Given the description of an element on the screen output the (x, y) to click on. 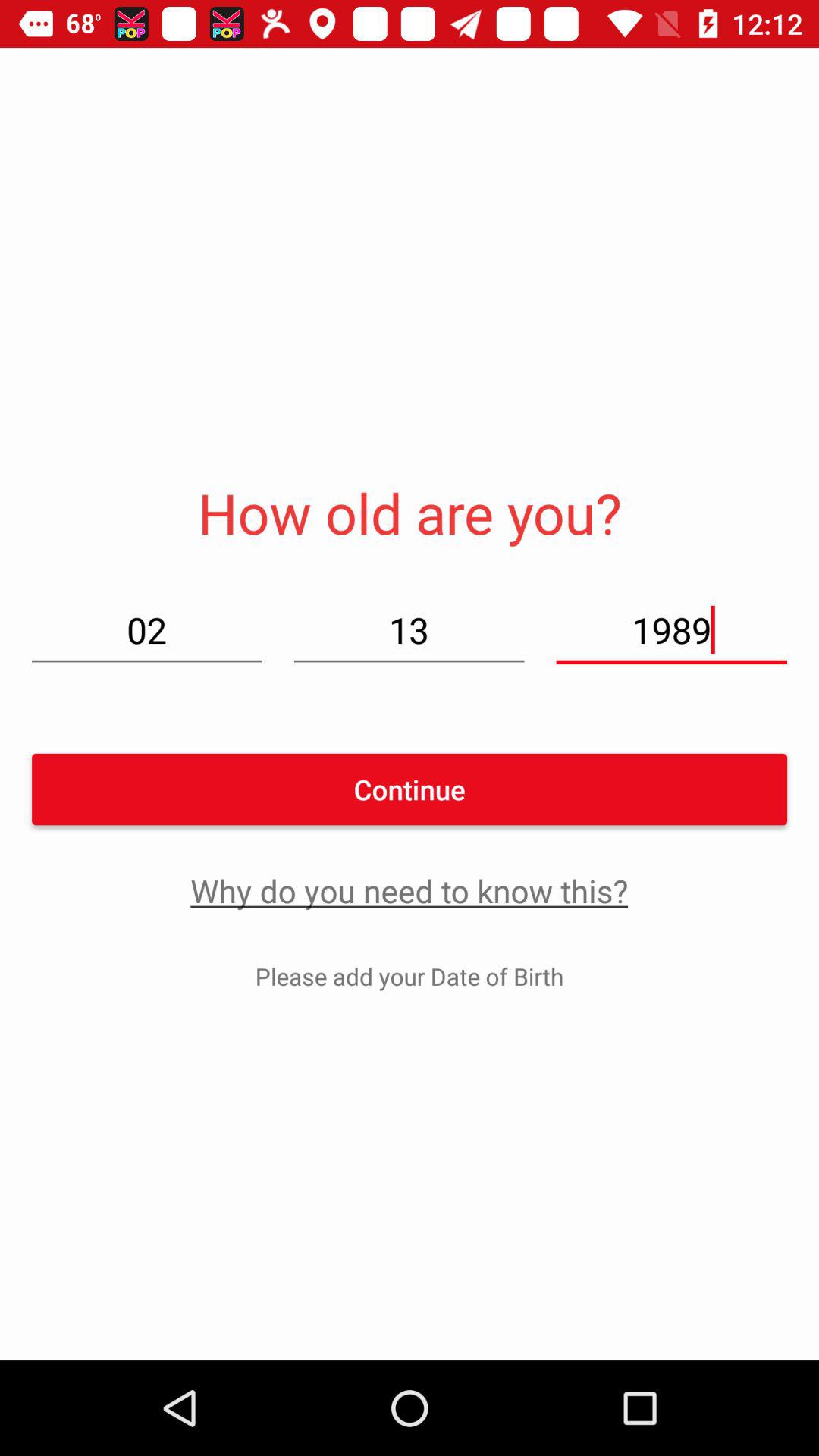
select 1989 on the right (671, 629)
